Given the description of an element on the screen output the (x, y) to click on. 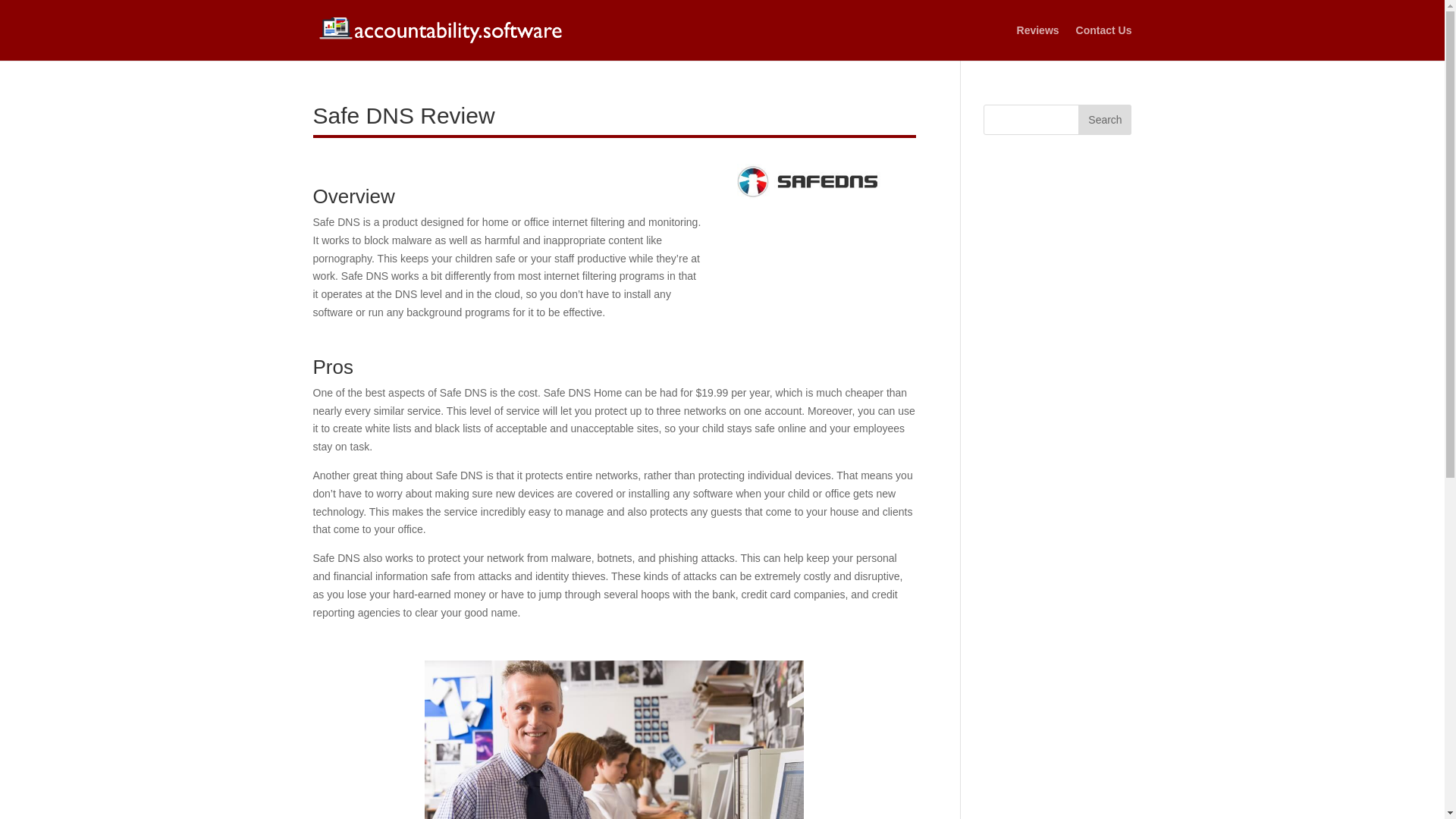
Search (1104, 119)
Reviews (1037, 42)
Search (1104, 119)
Safe DNS  (825, 181)
Contact Us (1103, 42)
